Given the description of an element on the screen output the (x, y) to click on. 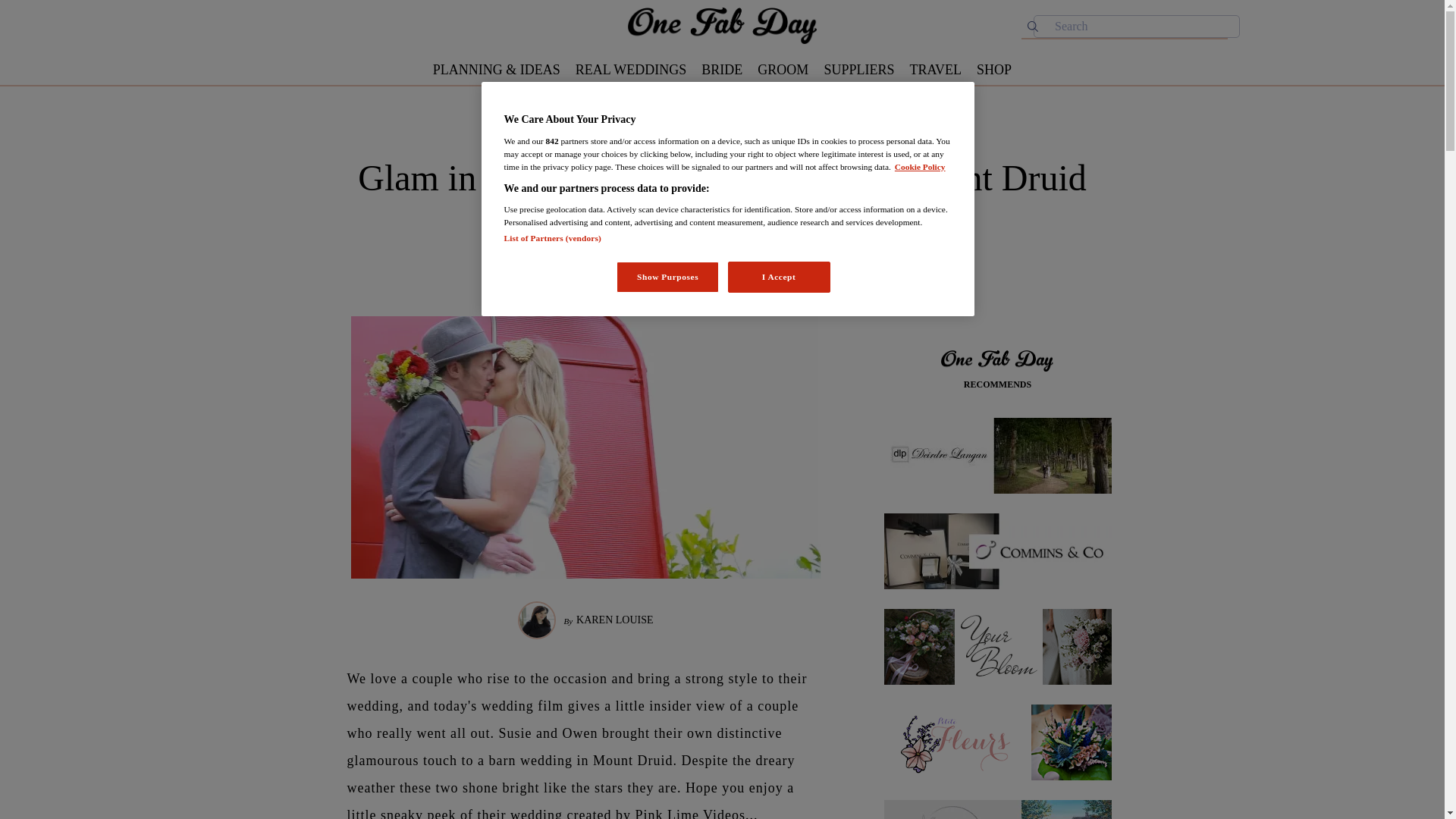
REAL WEDDINGS (630, 70)
Submit the search query (1033, 26)
